Given the description of an element on the screen output the (x, y) to click on. 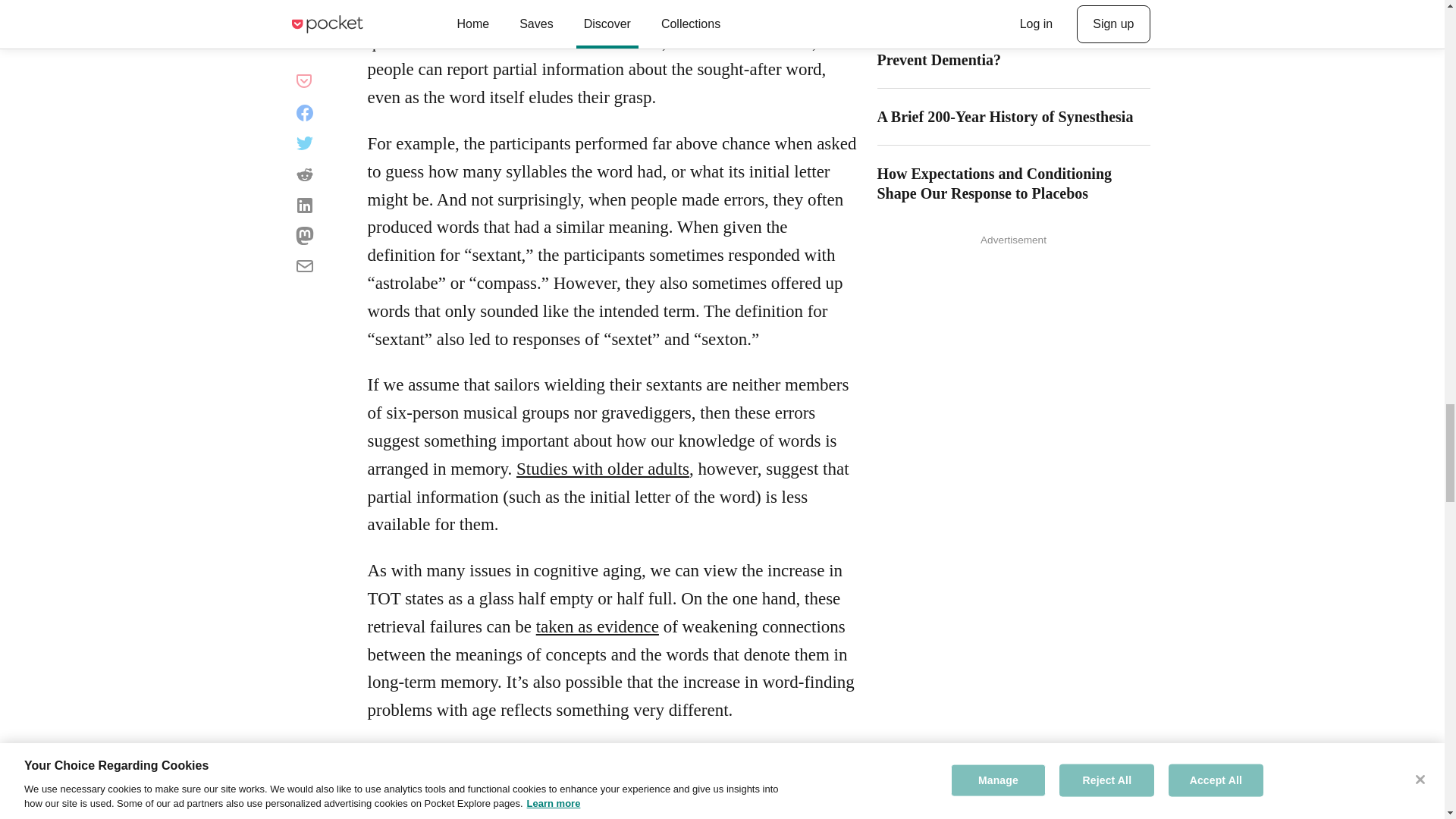
Studies with older adults (602, 468)
argued (632, 755)
taken as evidence (597, 626)
